Given the description of an element on the screen output the (x, y) to click on. 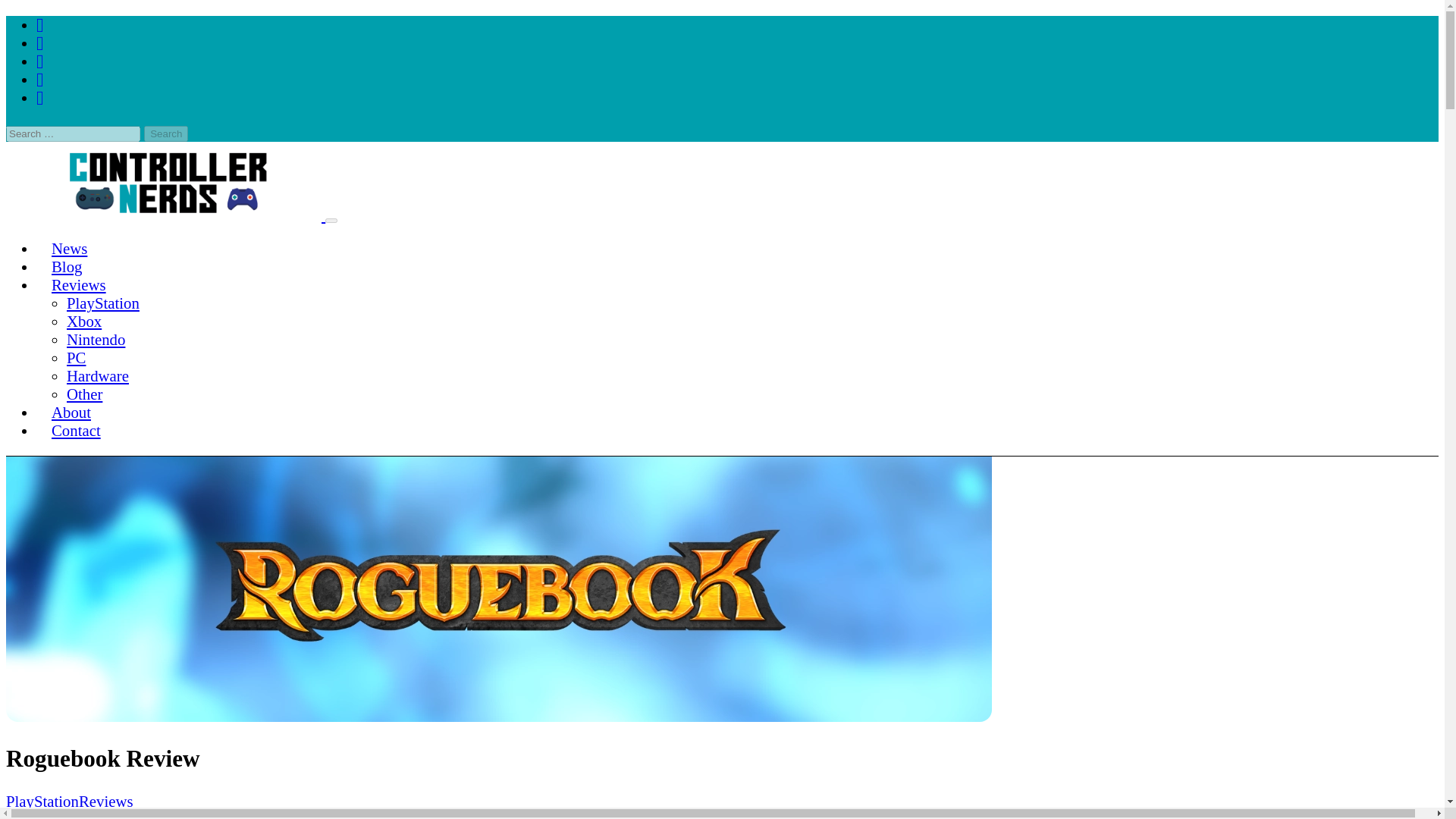
Contact (76, 430)
About (71, 411)
PlayStation (41, 800)
Other (83, 393)
Reviews (78, 284)
Xbox (83, 321)
Blog (66, 266)
Search (165, 133)
PC (75, 357)
Search for: (72, 133)
Search (165, 133)
Reviews (105, 800)
